Given the description of an element on the screen output the (x, y) to click on. 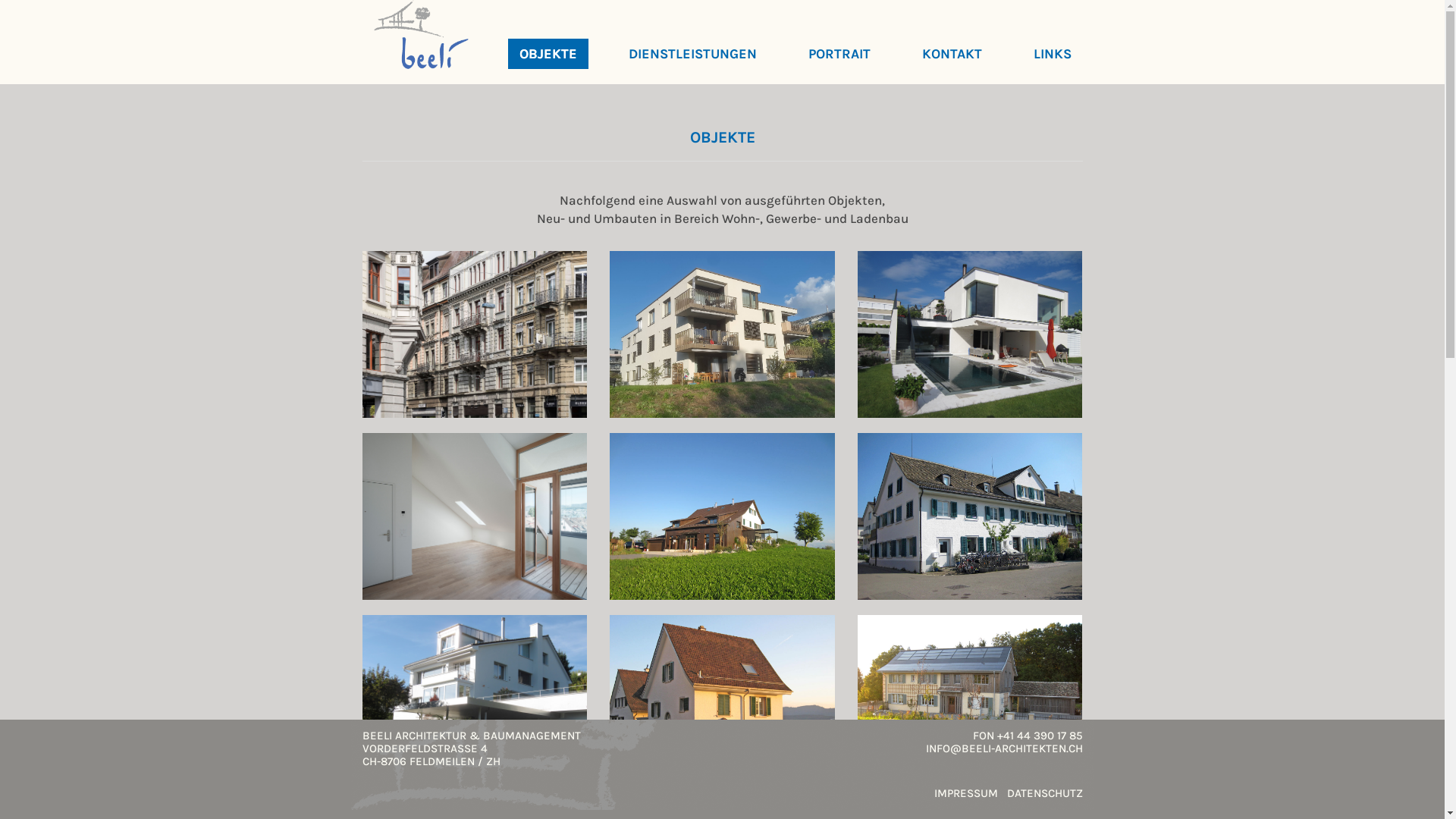
LINKS Element type: text (1052, 53)
PORTRAIT Element type: text (838, 53)
IMPRESSUM Element type: text (965, 793)
INFO@BEELI-ARCHITEKTEN.CH Element type: text (1003, 748)
KONTAKT Element type: text (951, 53)
Beeli Architektur & Baumanagement Element type: hover (420, 34)
OBJEKTE Element type: text (548, 53)
DATENSCHUTZ Element type: text (1044, 793)
DIENSTLEISTUNGEN Element type: text (692, 53)
